Given the description of an element on the screen output the (x, y) to click on. 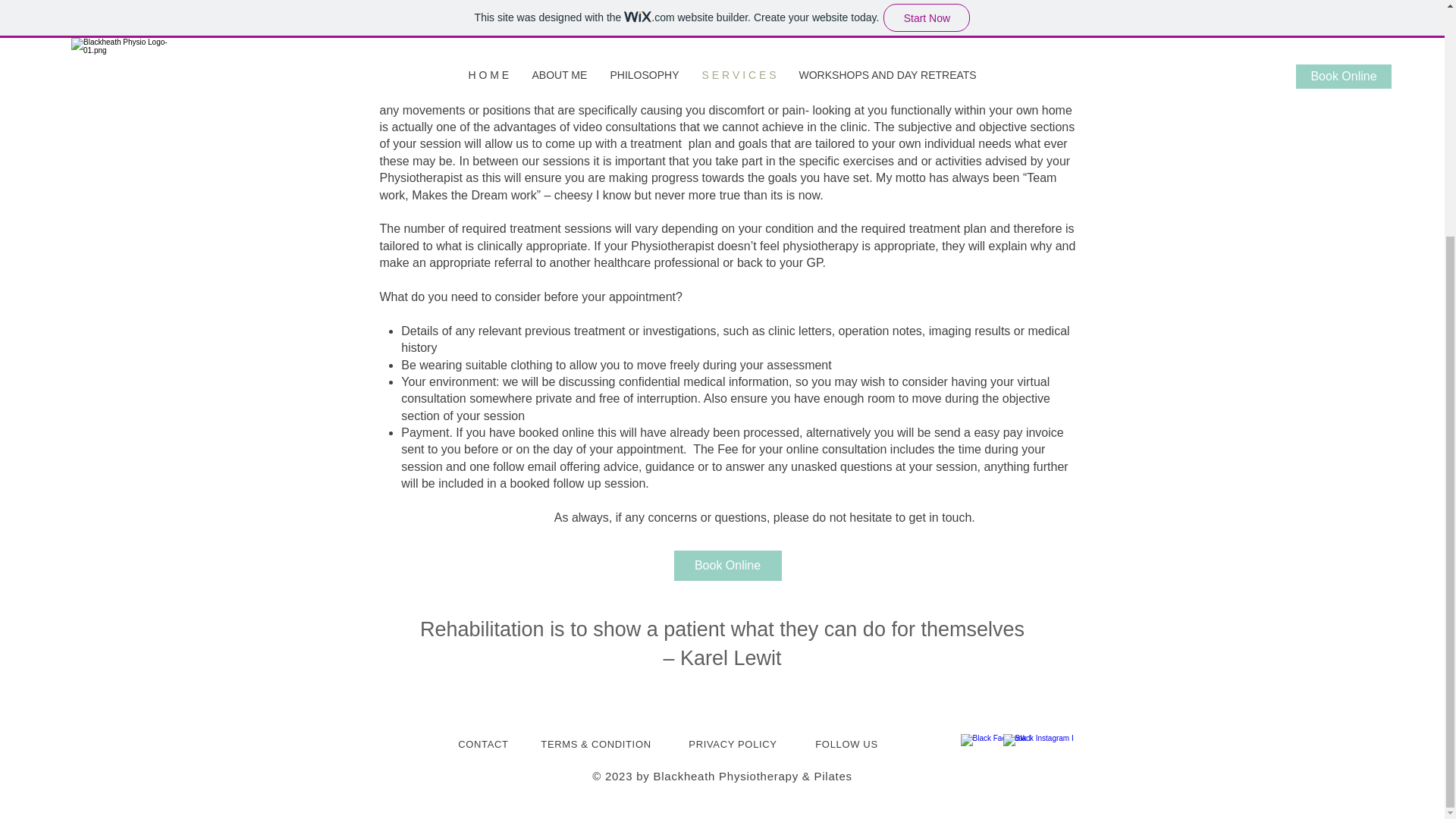
PRIVACY POLICY (732, 744)
CONTACT (483, 744)
Book Online (726, 565)
